Given the description of an element on the screen output the (x, y) to click on. 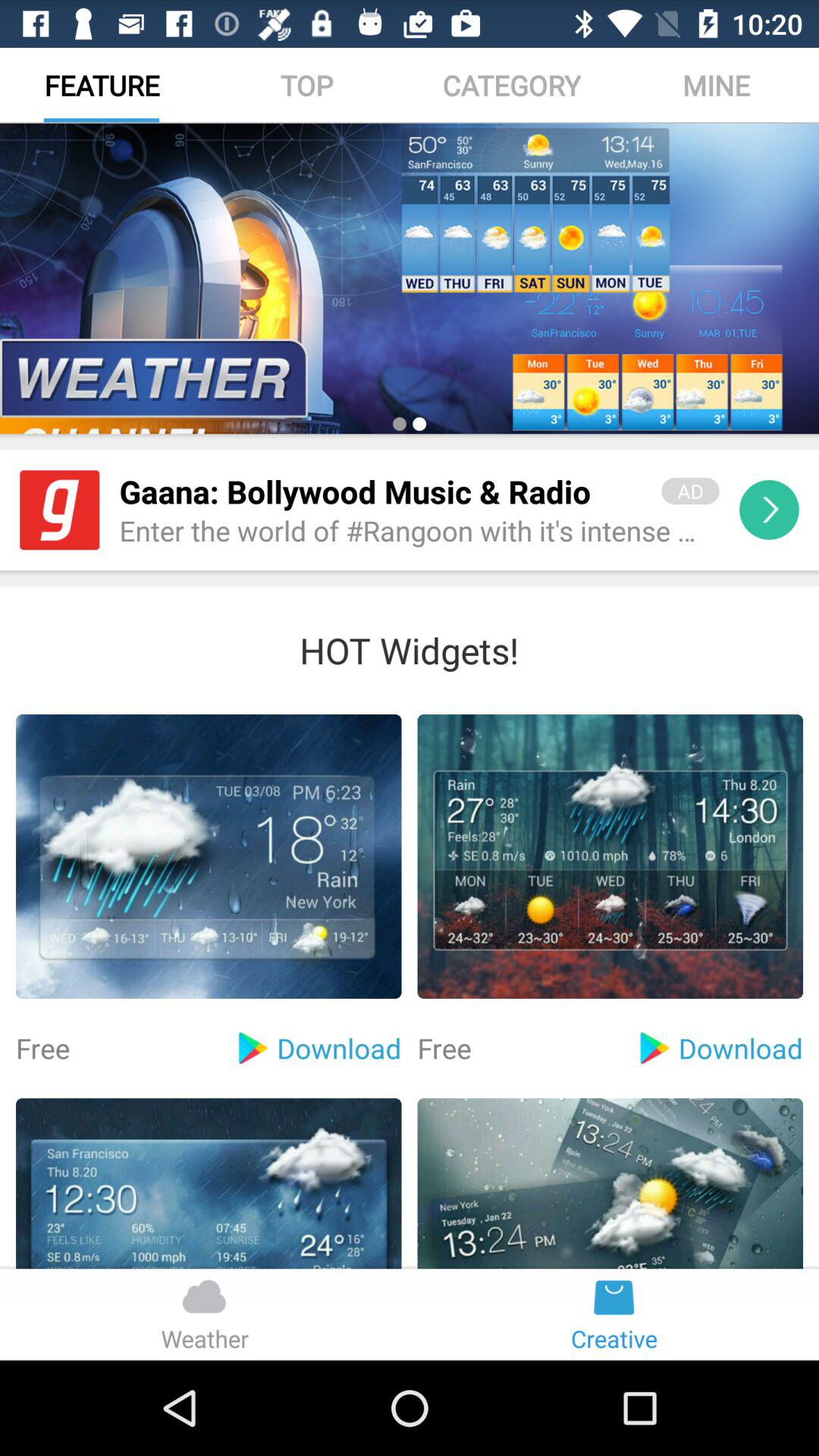
launch the app below gaana bollywood music item (419, 531)
